Given the description of an element on the screen output the (x, y) to click on. 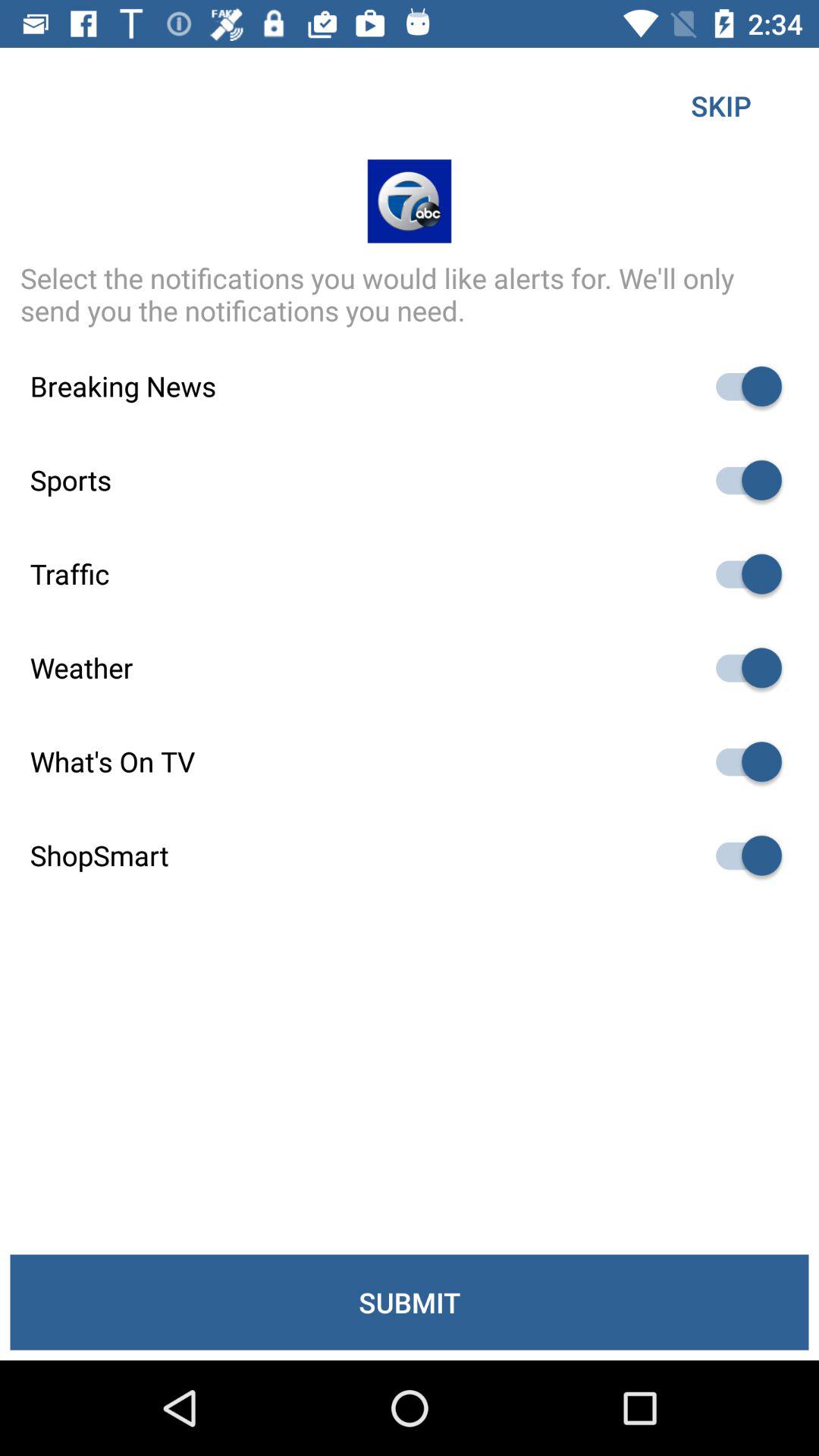
tap the skip icon (720, 105)
